Given the description of an element on the screen output the (x, y) to click on. 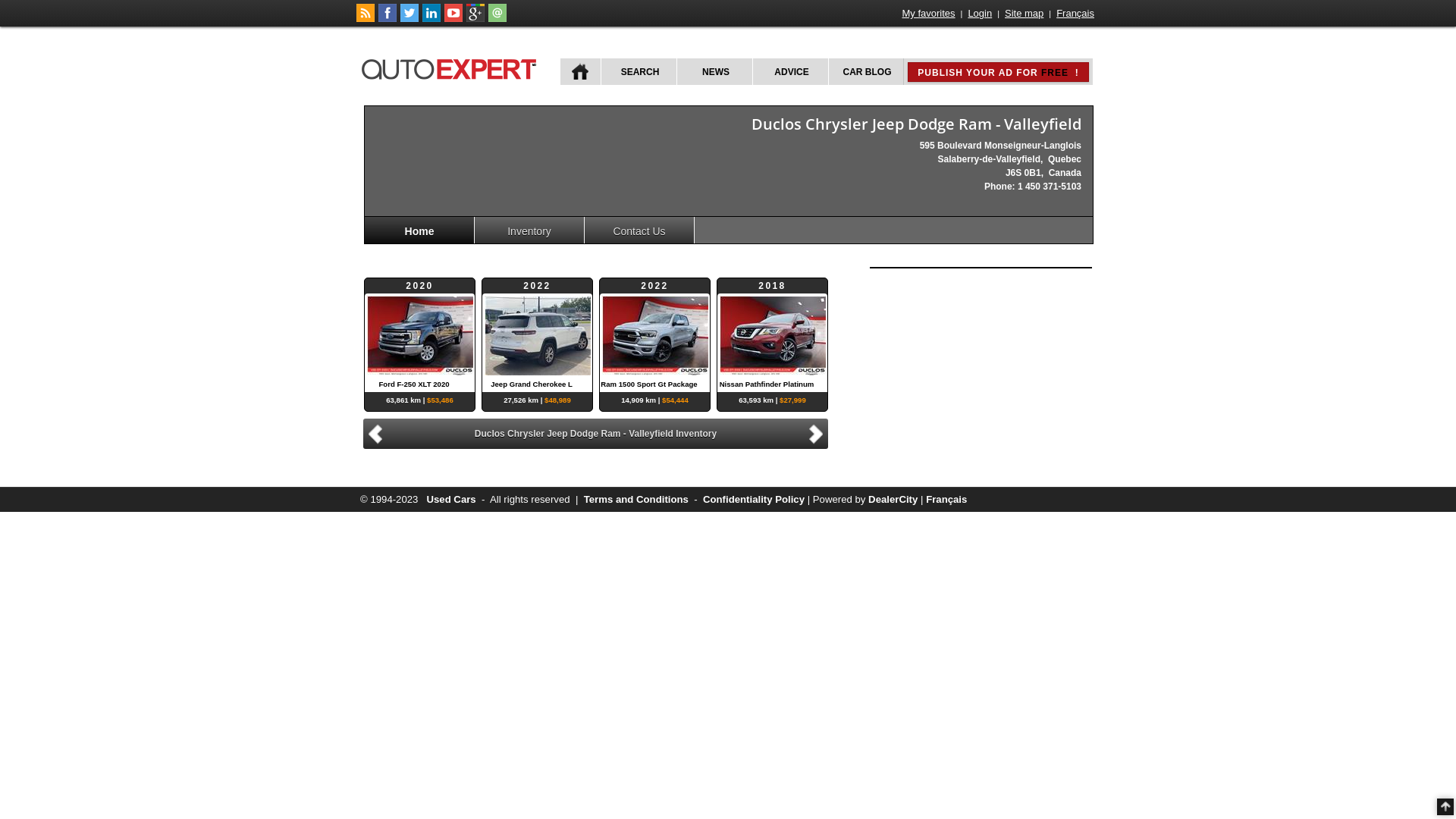
Site map Element type: text (1023, 13)
2022
Ram 1500 Sport Gt Package 2022
14,909 km | $54,444 Element type: text (654, 335)
NEWS Element type: text (714, 71)
Login Element type: text (979, 13)
My favorites Element type: text (928, 13)
Follow autoExpert.ca on Facebook Element type: hover (387, 18)
Confidentiality Policy Element type: text (753, 499)
Follow car news on autoExpert.ca Element type: hover (365, 18)
HOME Element type: text (580, 71)
2022
Jeep Grand Cherokee L Limited 2022
27,526 km | $48,989 Element type: text (537, 335)
2018
Nissan Pathfinder Platinum 2018
63,593 km | $27,999 Element type: text (772, 335)
Contact autoExpert.ca Element type: hover (497, 18)
autoExpert.ca Element type: text (451, 66)
SEARCH Element type: text (638, 71)
Follow autoExpert.ca on Twitter Element type: hover (409, 18)
Contact Us Element type: text (639, 229)
Next Element type: hover (818, 432)
CAR BLOG Element type: text (865, 71)
Follow autoExpert.ca on Google Plus Element type: hover (475, 18)
2020
Ford F-250 XLT 2020
63,861 km | $53,486 Element type: text (419, 335)
PUBLISH YOUR AD FOR FREE  ! Element type: text (997, 71)
Home Element type: text (419, 229)
Terms and Conditions Element type: text (635, 499)
Inventory Element type: text (529, 229)
ADVICE Element type: text (790, 71)
Follow Publications Le Guide Inc. on LinkedIn Element type: hover (431, 18)
DealerCity Element type: text (892, 499)
Used Cars Element type: text (450, 499)
Previous Element type: hover (373, 433)
Follow autoExpert.ca on Youtube Element type: hover (453, 18)
